Given the description of an element on the screen output the (x, y) to click on. 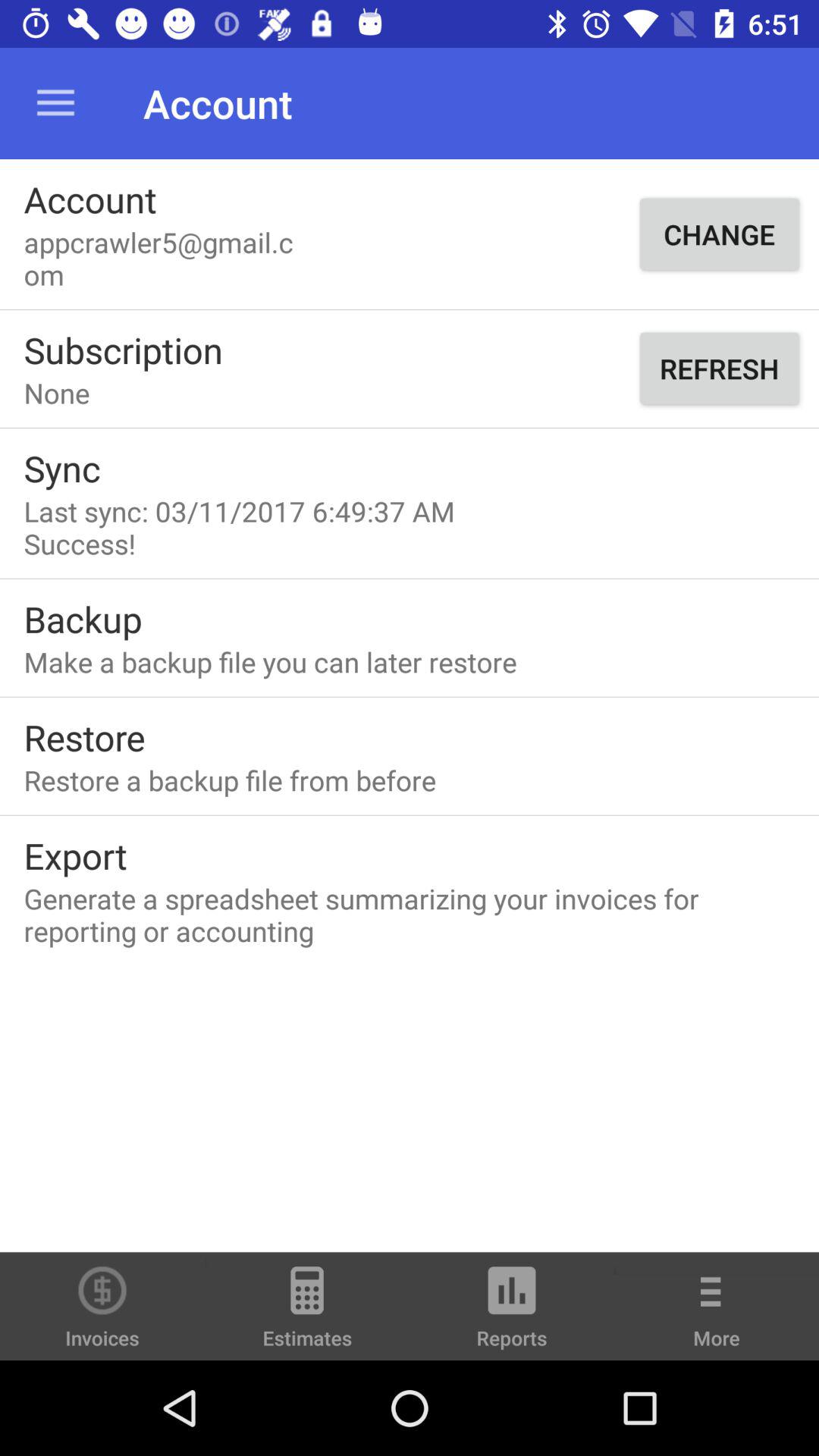
scroll until the estimates item (306, 1313)
